Given the description of an element on the screen output the (x, y) to click on. 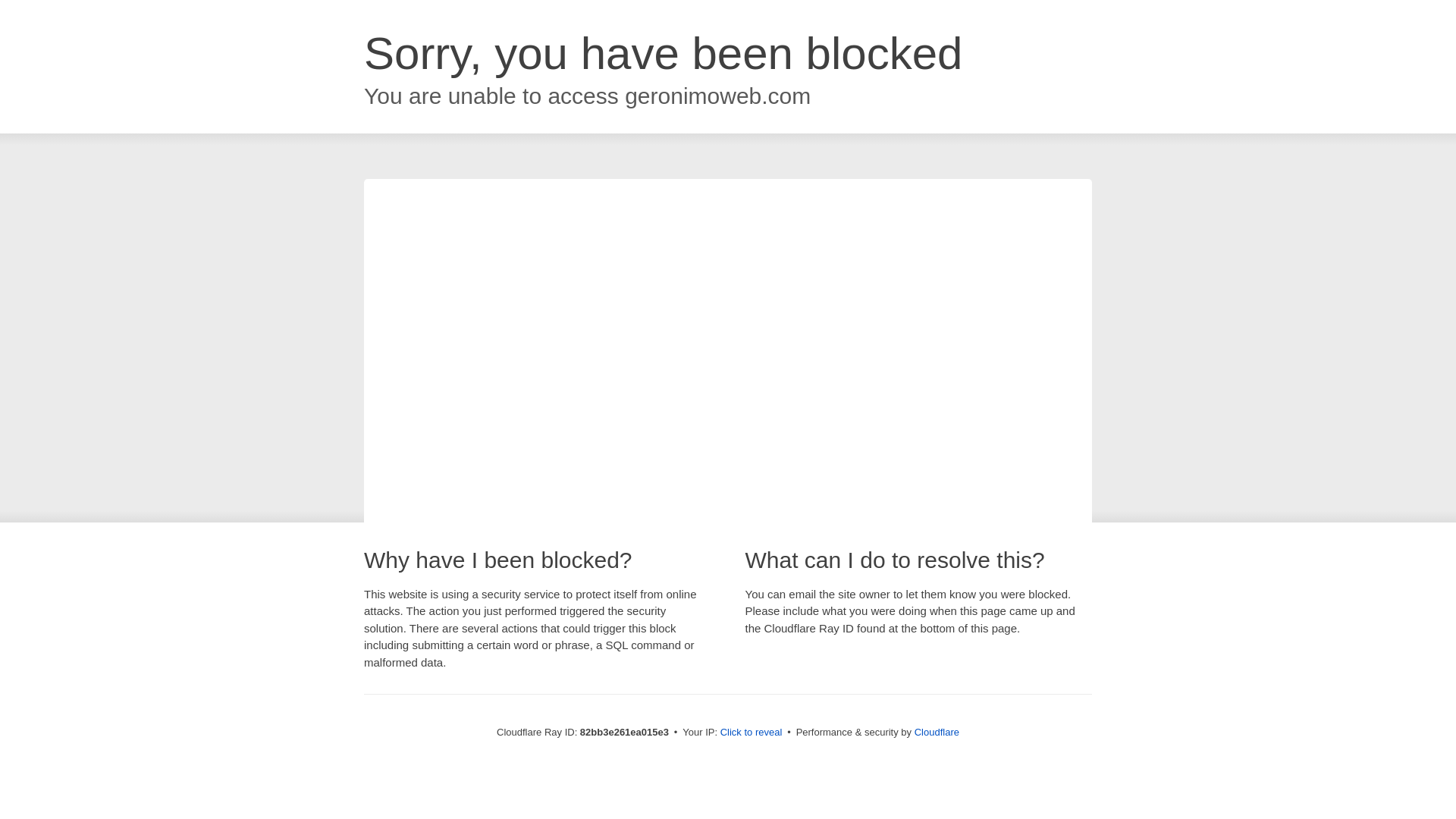
Click to reveal Element type: text (751, 732)
Cloudflare Element type: text (936, 731)
